Given the description of an element on the screen output the (x, y) to click on. 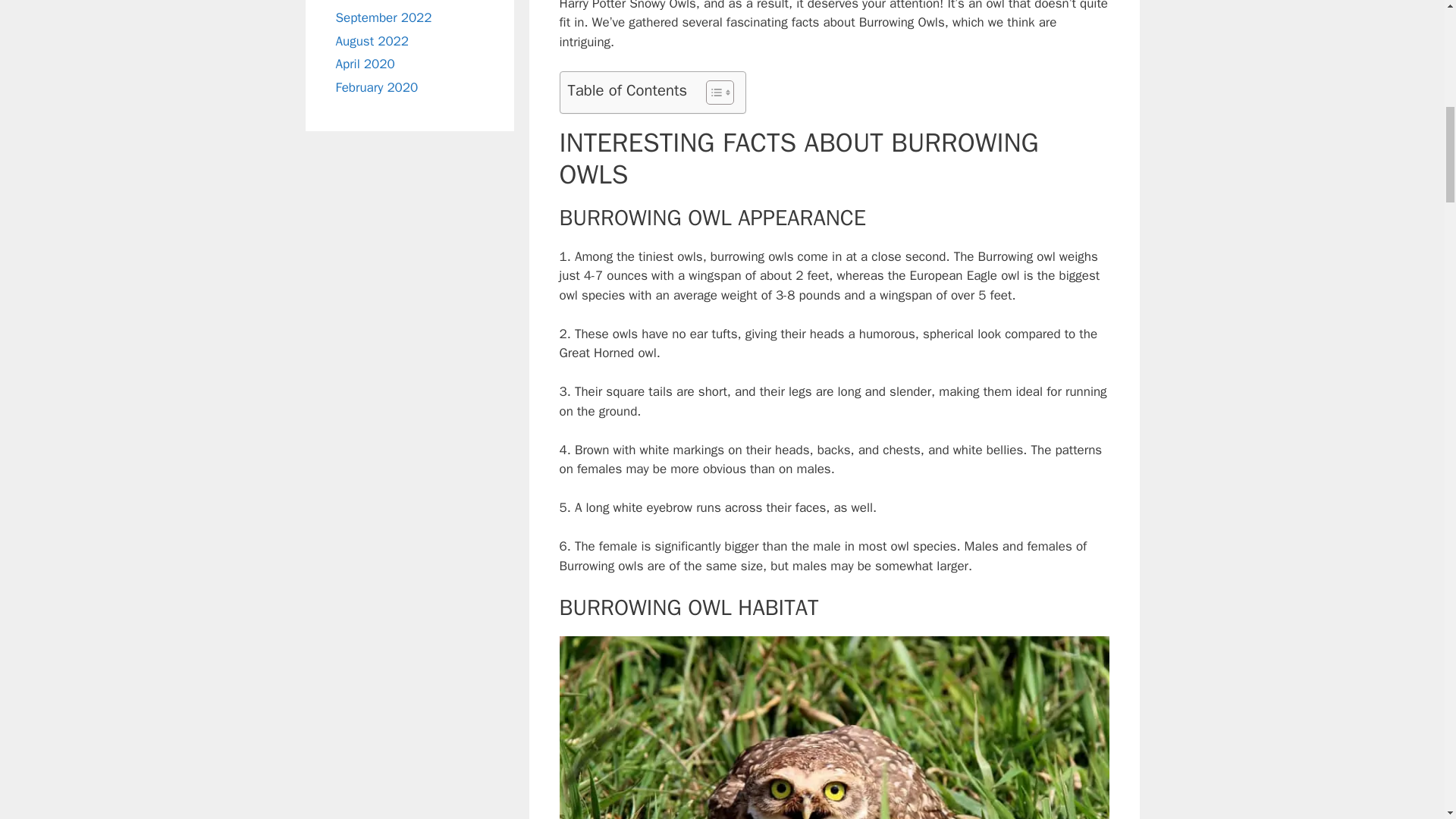
Scroll back to top (1406, 720)
